Given the description of an element on the screen output the (x, y) to click on. 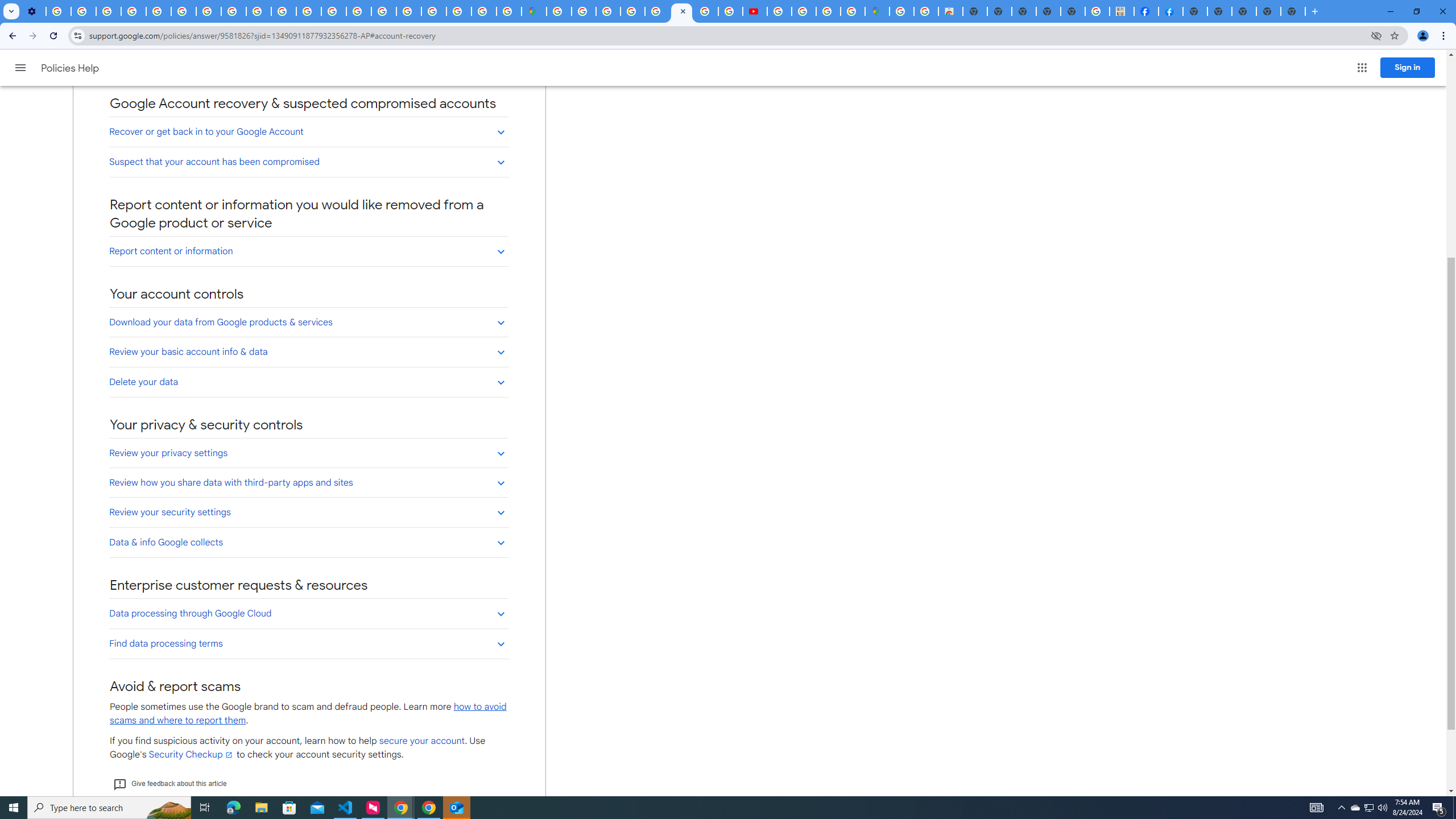
Google Maps (533, 11)
Security Checkup (191, 754)
how to avoid scams and where to report them (307, 713)
Give feedback about this article (169, 783)
Recover or get back in to your Google Account (308, 131)
Data processing through Google Cloud (308, 613)
https://scholar.google.com/ (308, 11)
Terms and Conditions (656, 11)
New Tab (1243, 11)
